Given the description of an element on the screen output the (x, y) to click on. 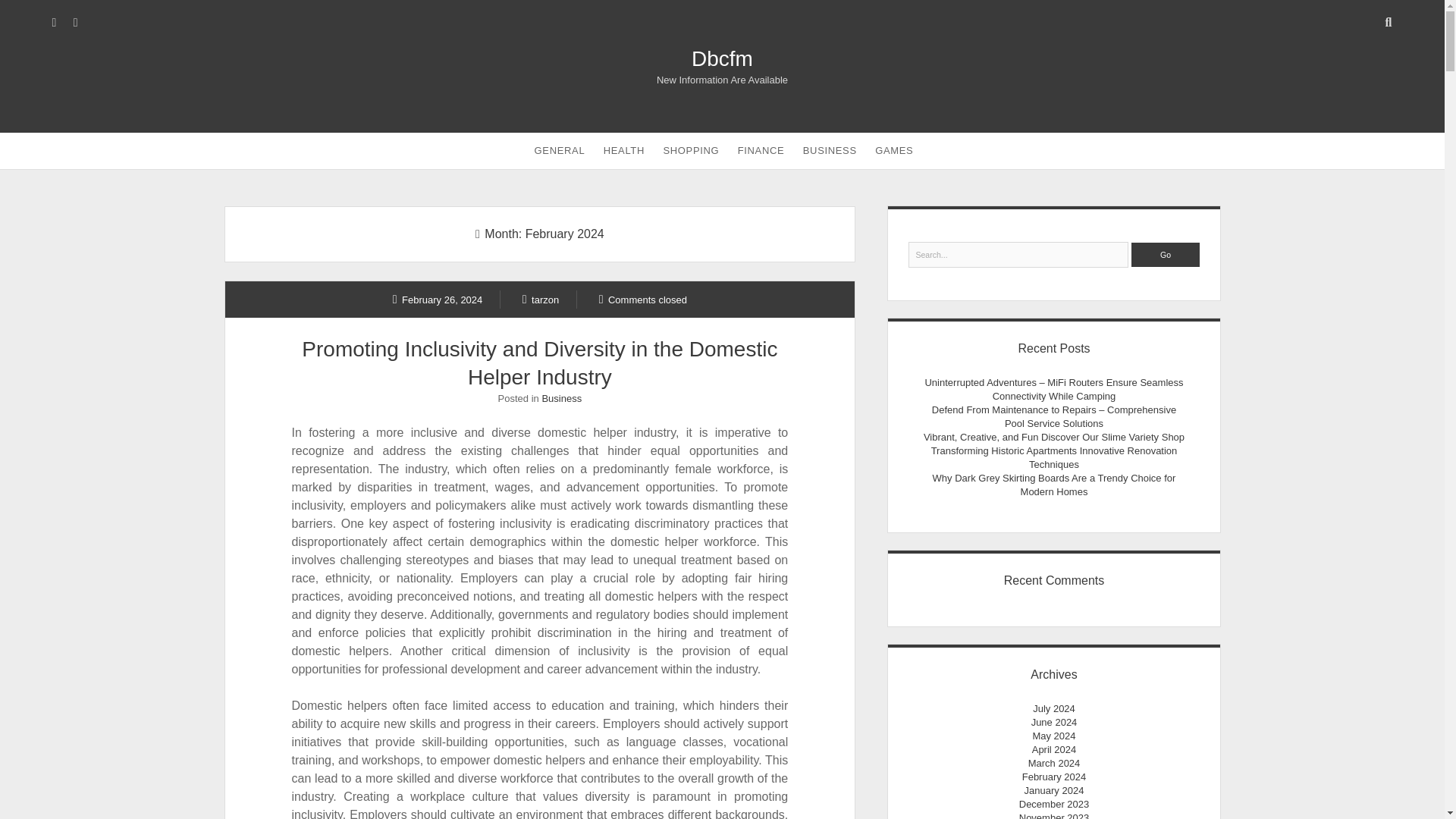
FINANCE (761, 150)
HEALTH (623, 150)
Posts from February (438, 298)
SHOPPING (690, 150)
Go (1165, 254)
GAMES (893, 150)
February 26, 2024 (438, 298)
Go (1165, 254)
BUSINESS (829, 150)
GENERAL (559, 150)
tarzon (540, 298)
Comments for this post (642, 298)
Dbcfm (721, 58)
Posts by tarzon (540, 298)
